Given the description of an element on the screen output the (x, y) to click on. 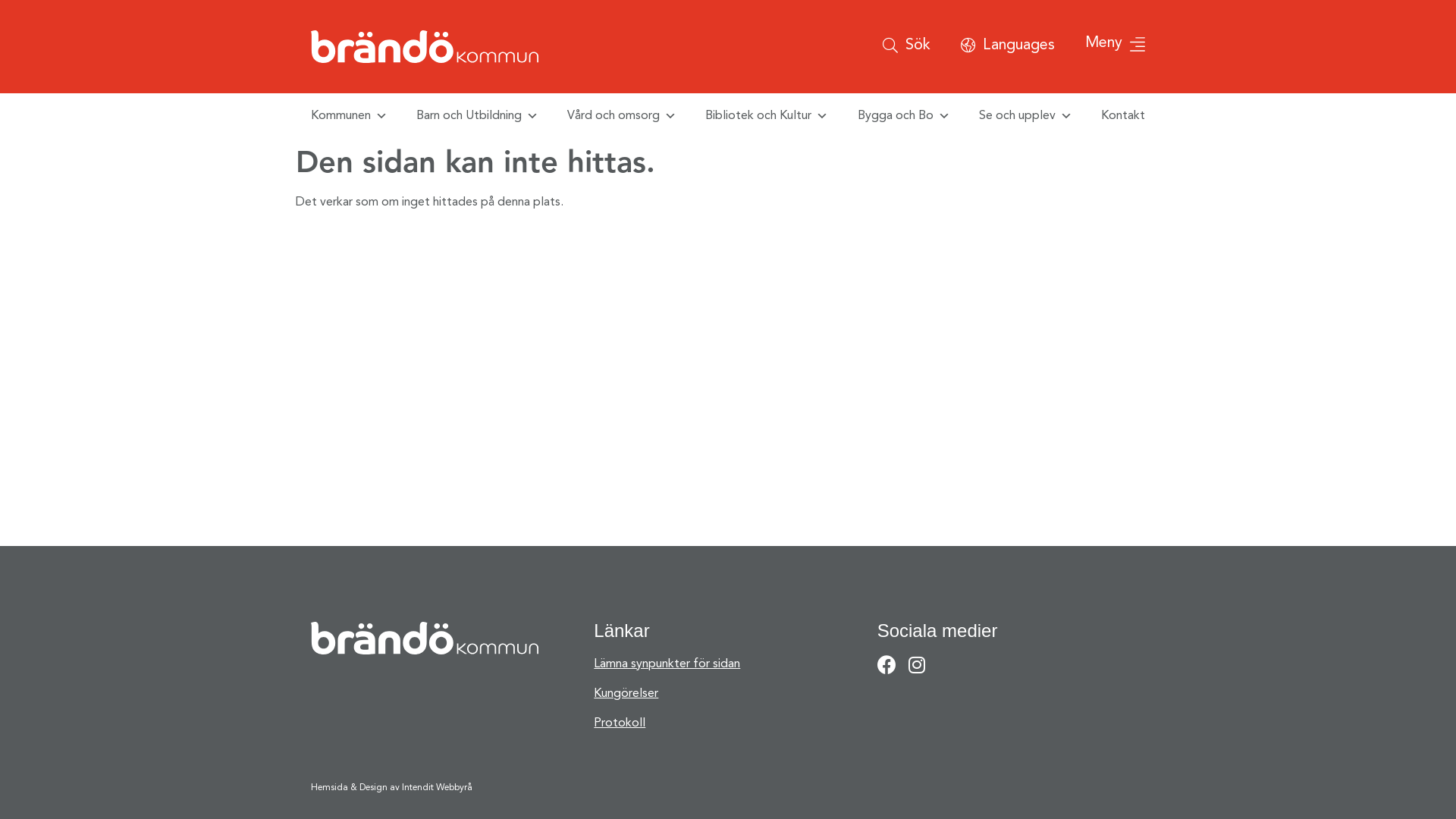
Kommunen Element type: text (348, 115)
Bibliotek och Kultur Element type: text (766, 115)
Meny Element type: text (1115, 46)
Barn och Utbildning Element type: text (477, 115)
Protokoll Element type: text (727, 723)
Languages Element type: text (1007, 46)
Se och upplev Element type: text (1025, 115)
Kontakt Element type: text (1123, 115)
Bygga och Bo Element type: text (903, 115)
